Given the description of an element on the screen output the (x, y) to click on. 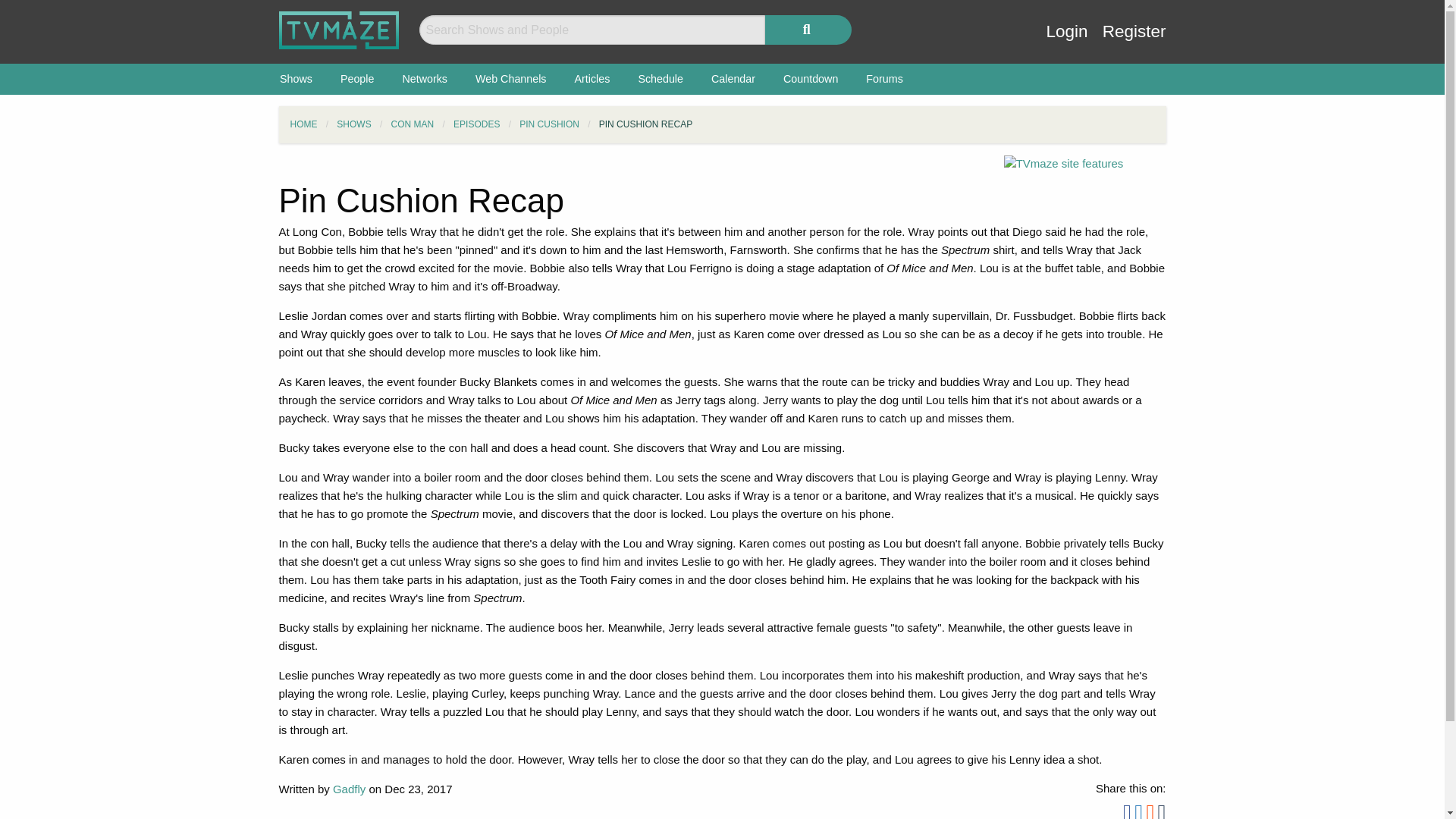
CON MAN (412, 123)
Calendar (732, 79)
reddit (1149, 814)
facebook (1126, 814)
Schedule (660, 79)
Articles (592, 79)
Web Channels (511, 79)
People (357, 79)
Register (1134, 42)
twitter (1138, 814)
EPISODES (475, 123)
SHOWS (353, 123)
Shows (295, 79)
